Given the description of an element on the screen output the (x, y) to click on. 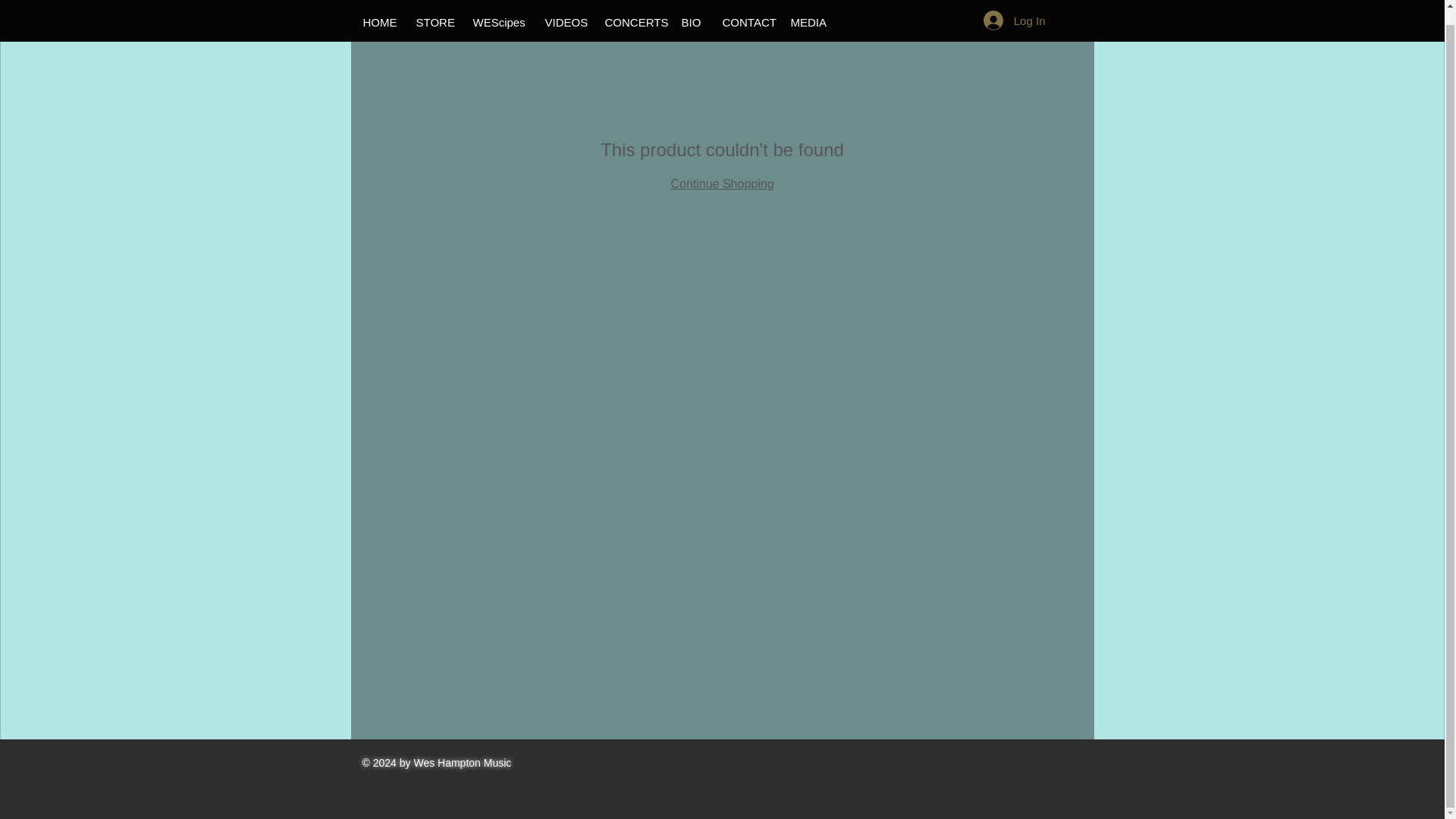
Log In (1014, 10)
Continue Shopping (721, 183)
CONCERTS (630, 9)
VIDEOS (562, 9)
BIO (689, 9)
WEScipes (496, 9)
CONTACT (743, 9)
HOME (376, 9)
STORE (431, 9)
MEDIA (804, 9)
